Given the description of an element on the screen output the (x, y) to click on. 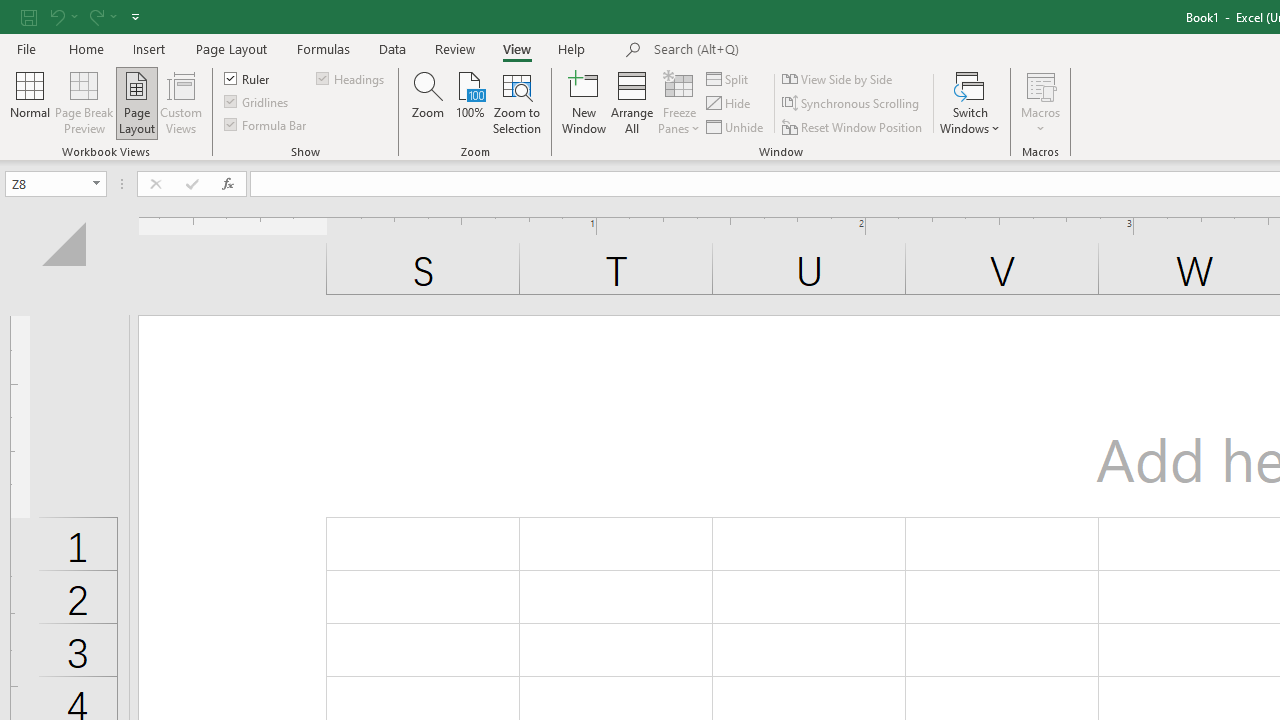
Gridlines (257, 101)
Arrange All (632, 102)
Zoom to Selection (517, 102)
100% (470, 102)
Ruler (248, 78)
